Given the description of an element on the screen output the (x, y) to click on. 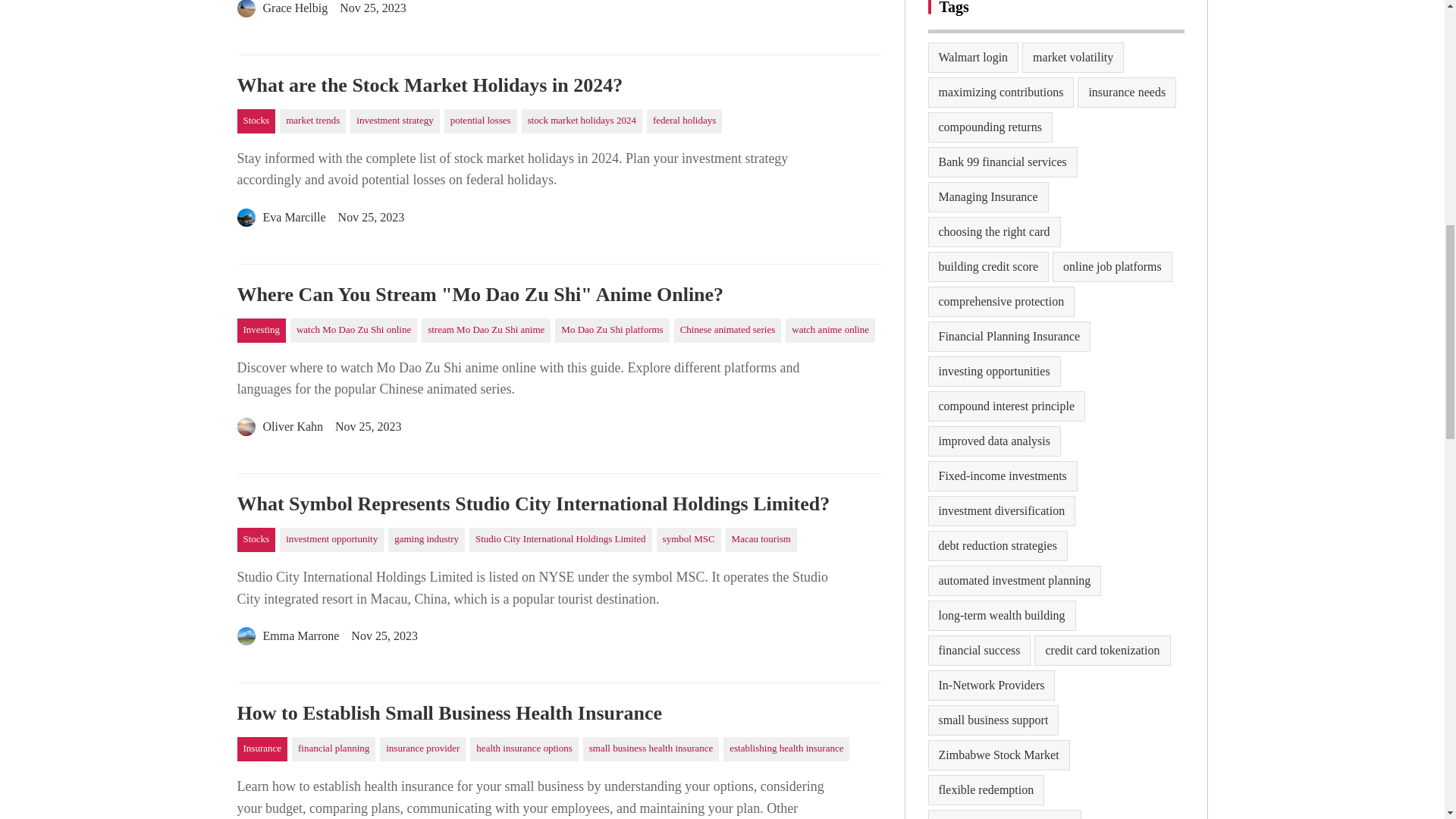
What are the Stock Market Holidays in 2024? (557, 85)
Stocks (255, 120)
Grace Helbig (281, 11)
investment strategy (394, 120)
market trends (312, 120)
